Given the description of an element on the screen output the (x, y) to click on. 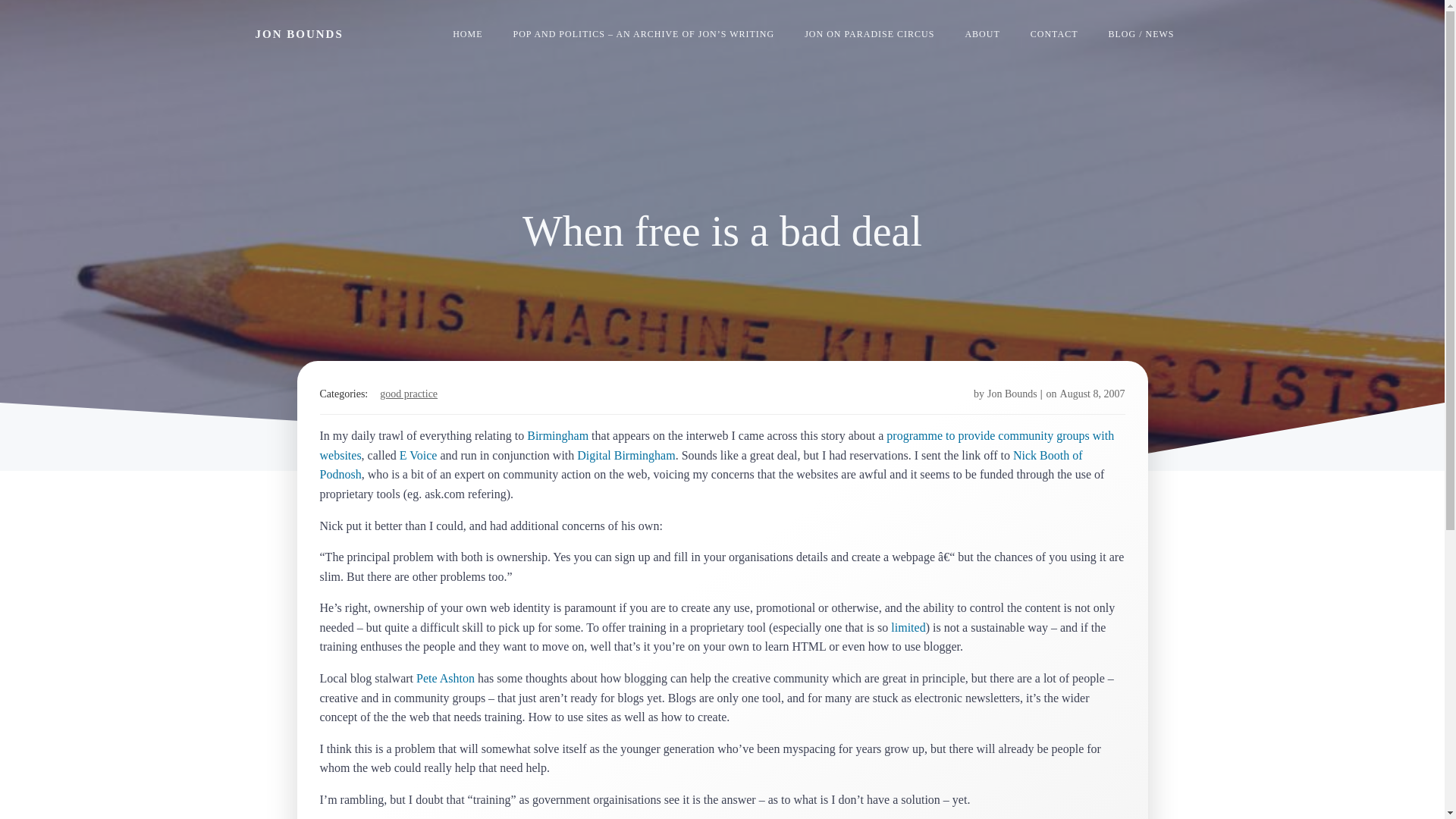
Pete Ashton (445, 677)
Rarely updated blog (1141, 33)
programme to provide community groups with websites (717, 445)
E Voice (418, 454)
Digital Birmingham (625, 454)
August 8, 2007 (1092, 393)
JON ON PARADISE CIRCUS (869, 33)
ABOUT (980, 33)
limited (907, 626)
Nick Booth of Podnosh (701, 464)
CONTACT (1054, 33)
good practice (409, 393)
Birmingham (557, 435)
Jon Bounds (1011, 393)
JON BOUNDS (298, 34)
